Given the description of an element on the screen output the (x, y) to click on. 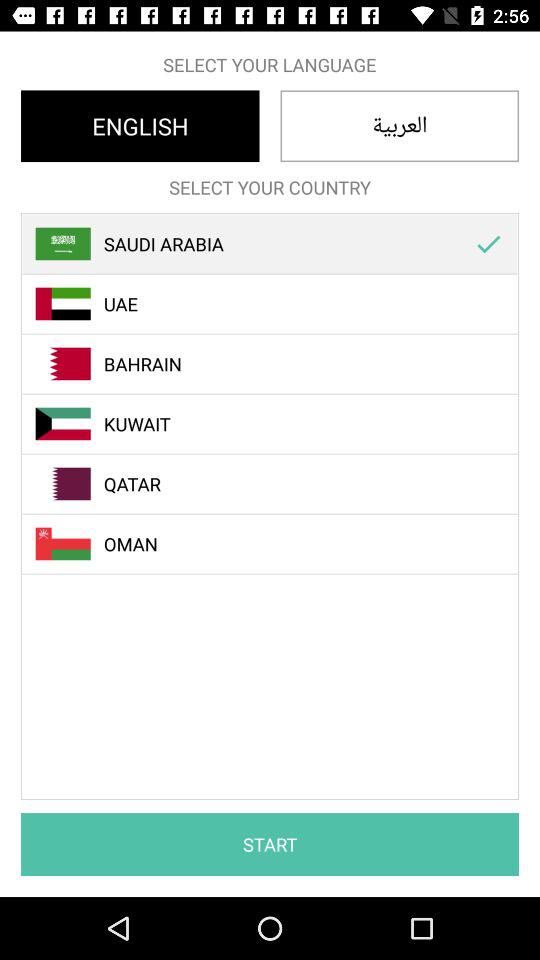
launch uae item (281, 303)
